Given the description of an element on the screen output the (x, y) to click on. 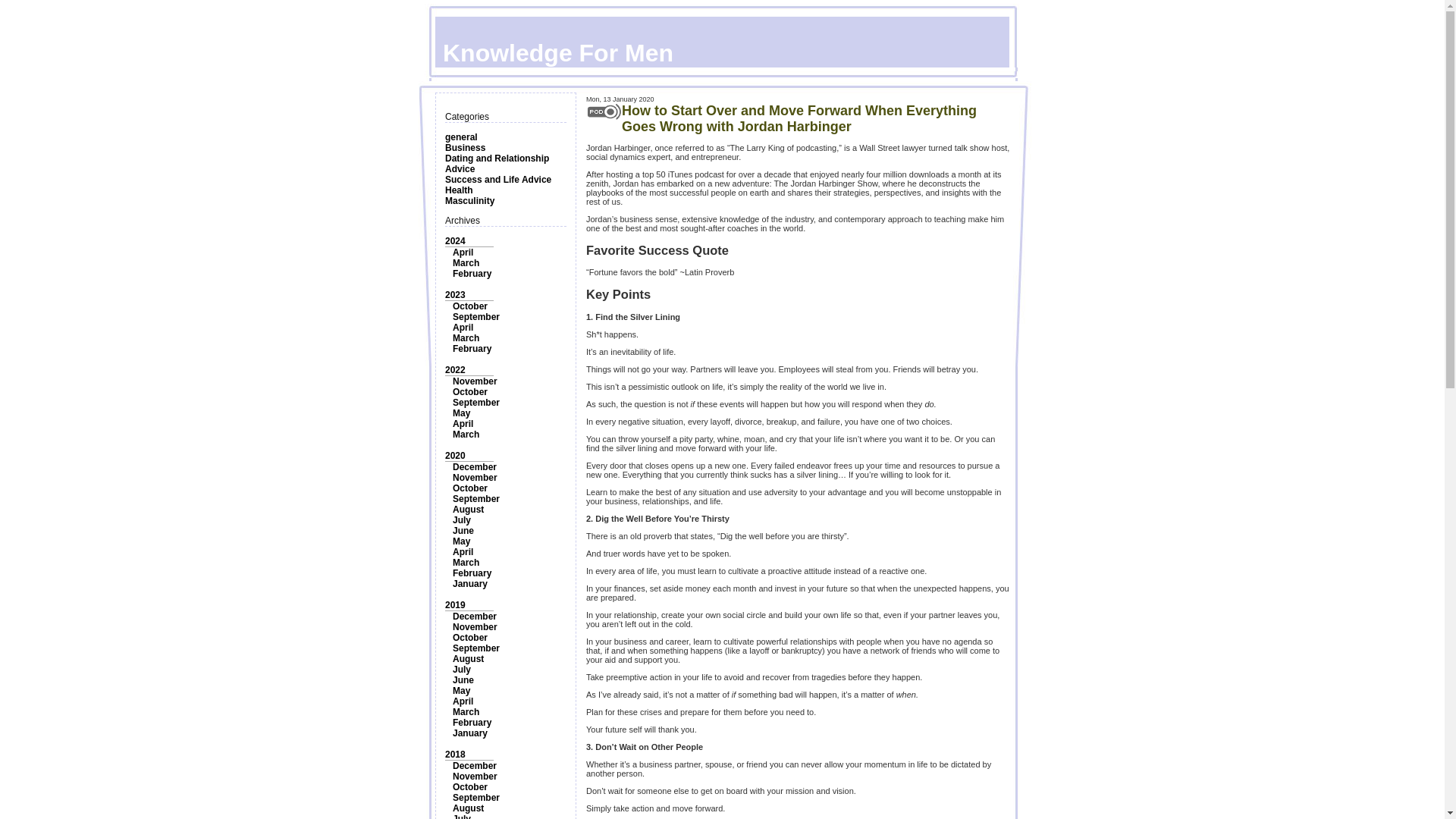
May (461, 541)
August (467, 509)
March (465, 434)
April (462, 327)
general (461, 136)
Success and Life Advice (498, 179)
February (472, 273)
October (469, 637)
Health (459, 190)
September (475, 317)
October (469, 488)
May (461, 412)
2023 (455, 294)
June (463, 530)
November (474, 477)
